Given the description of an element on the screen output the (x, y) to click on. 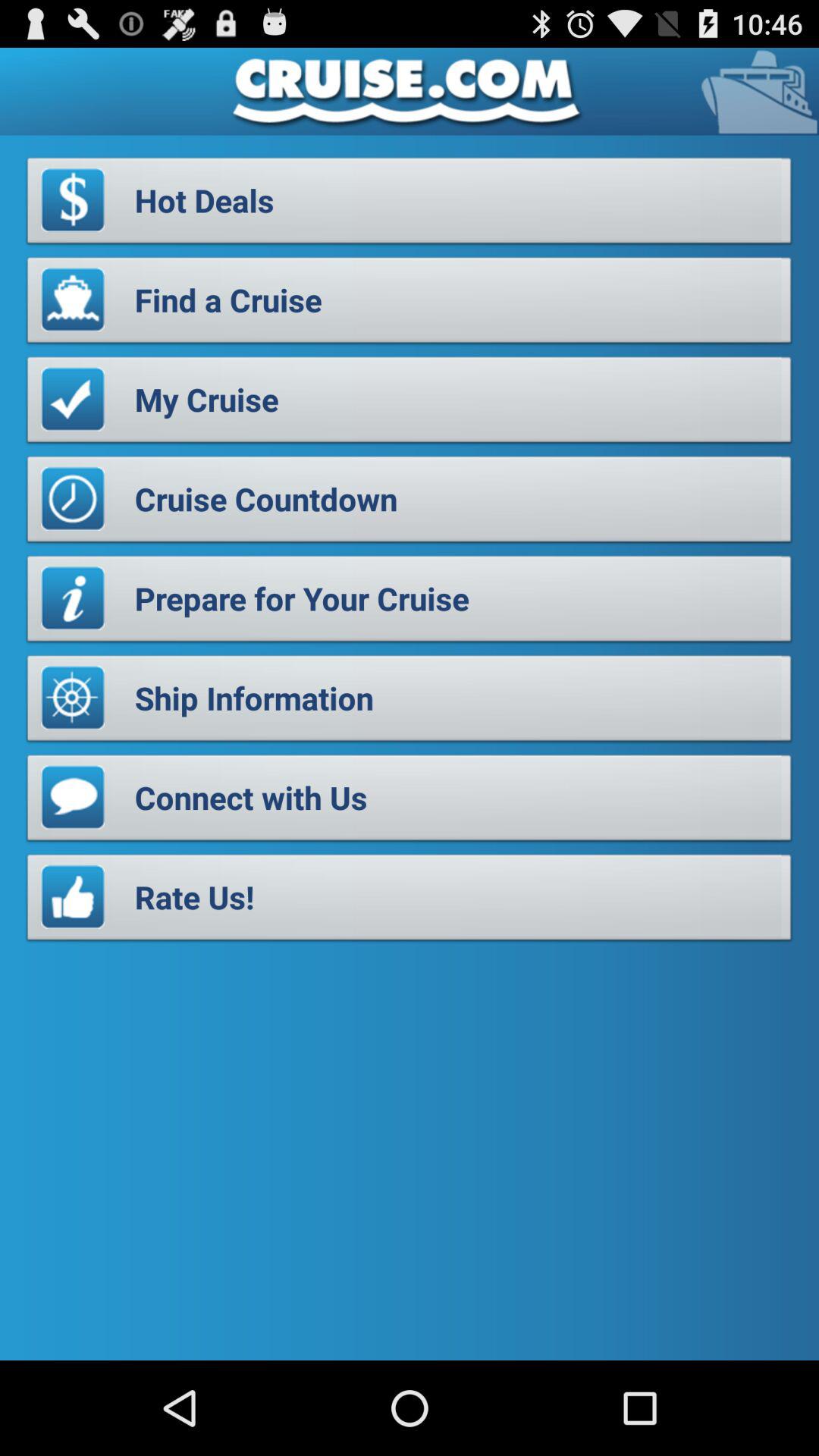
launch find a cruise icon (409, 304)
